Given the description of an element on the screen output the (x, y) to click on. 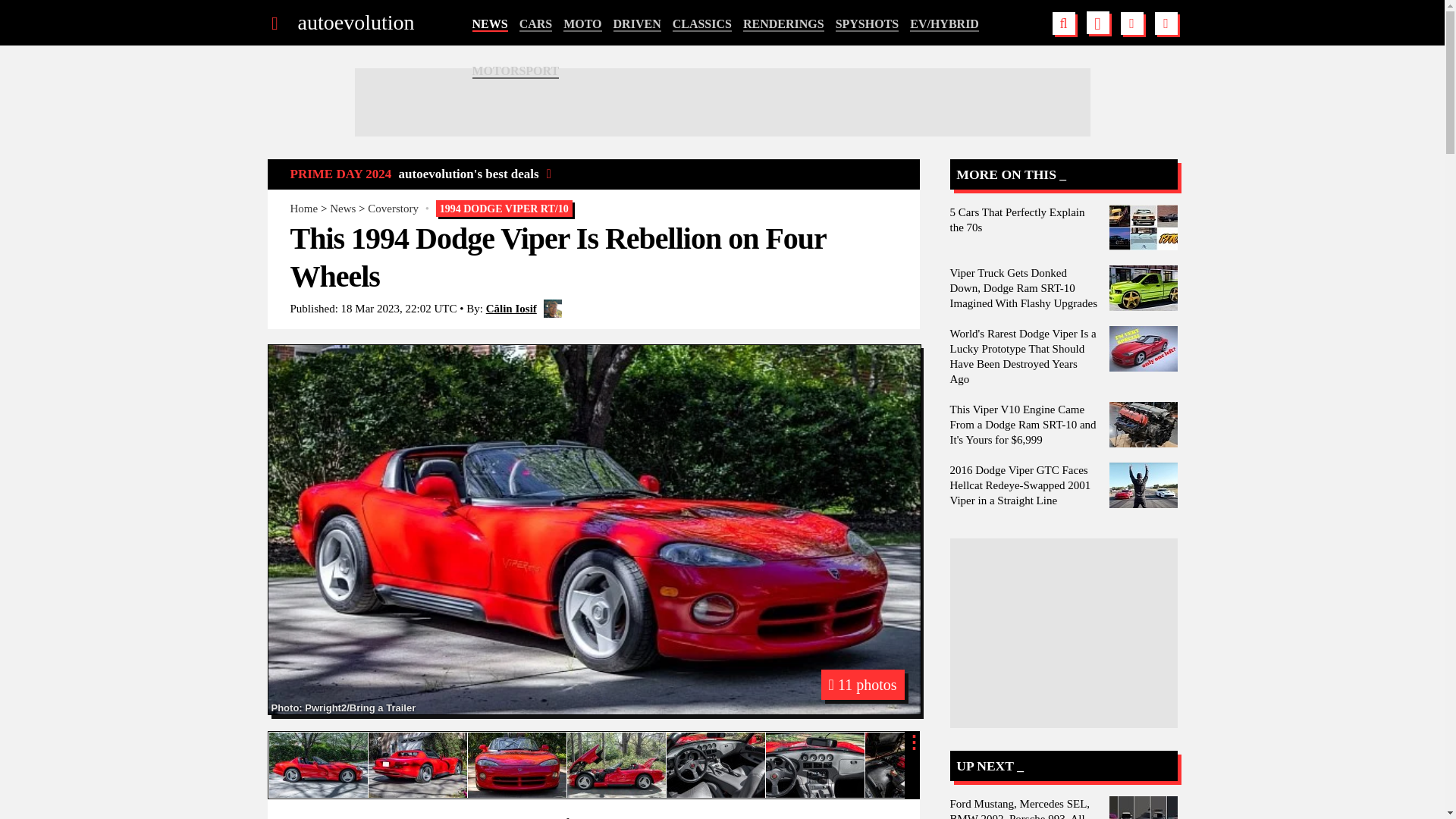
Home (303, 208)
autoevolution (355, 22)
PRIME DAY 2024 (340, 173)
DRIVEN (636, 24)
autoevolution (355, 22)
MOTORSPORT (515, 71)
autoevolution's best deals (474, 173)
MOTO (582, 24)
RENDERINGS (783, 24)
SPYSHOTS (867, 24)
NEWS (488, 24)
CARS (536, 24)
CLASSICS (702, 24)
